Given the description of an element on the screen output the (x, y) to click on. 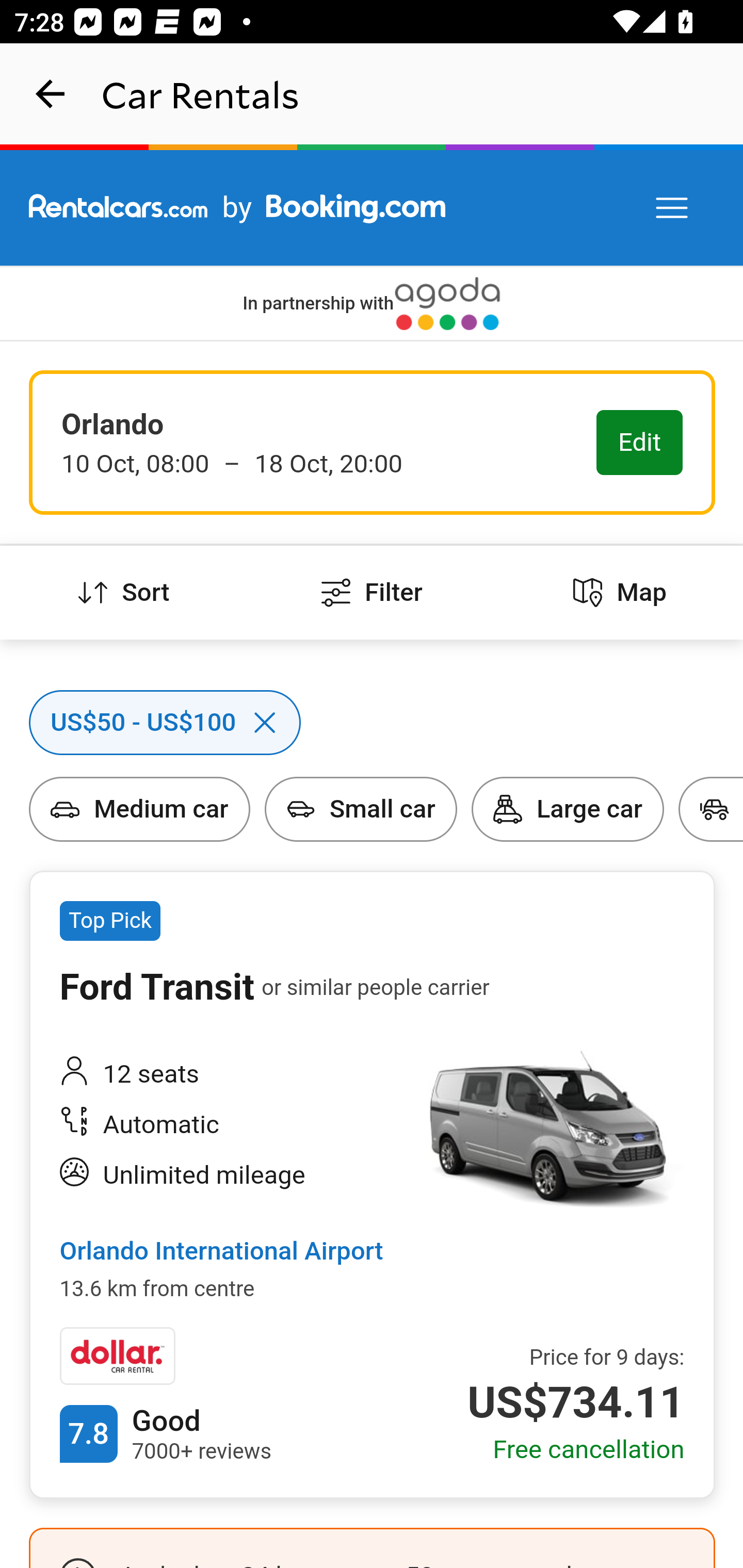
navigation_button (50, 93)
Menu (672, 208)
Edit (639, 443)
Sort (124, 592)
Filter (371, 592)
US$50 - US$100 (30, 689)
Show medium cars (30, 776)
Show small cars (265, 776)
Show large cars (471, 776)
12 seats (225, 1074)
Automatic (225, 1125)
Unlimited mileage (225, 1175)
Orlando International Airport (220, 1251)
